Given the description of an element on the screen output the (x, y) to click on. 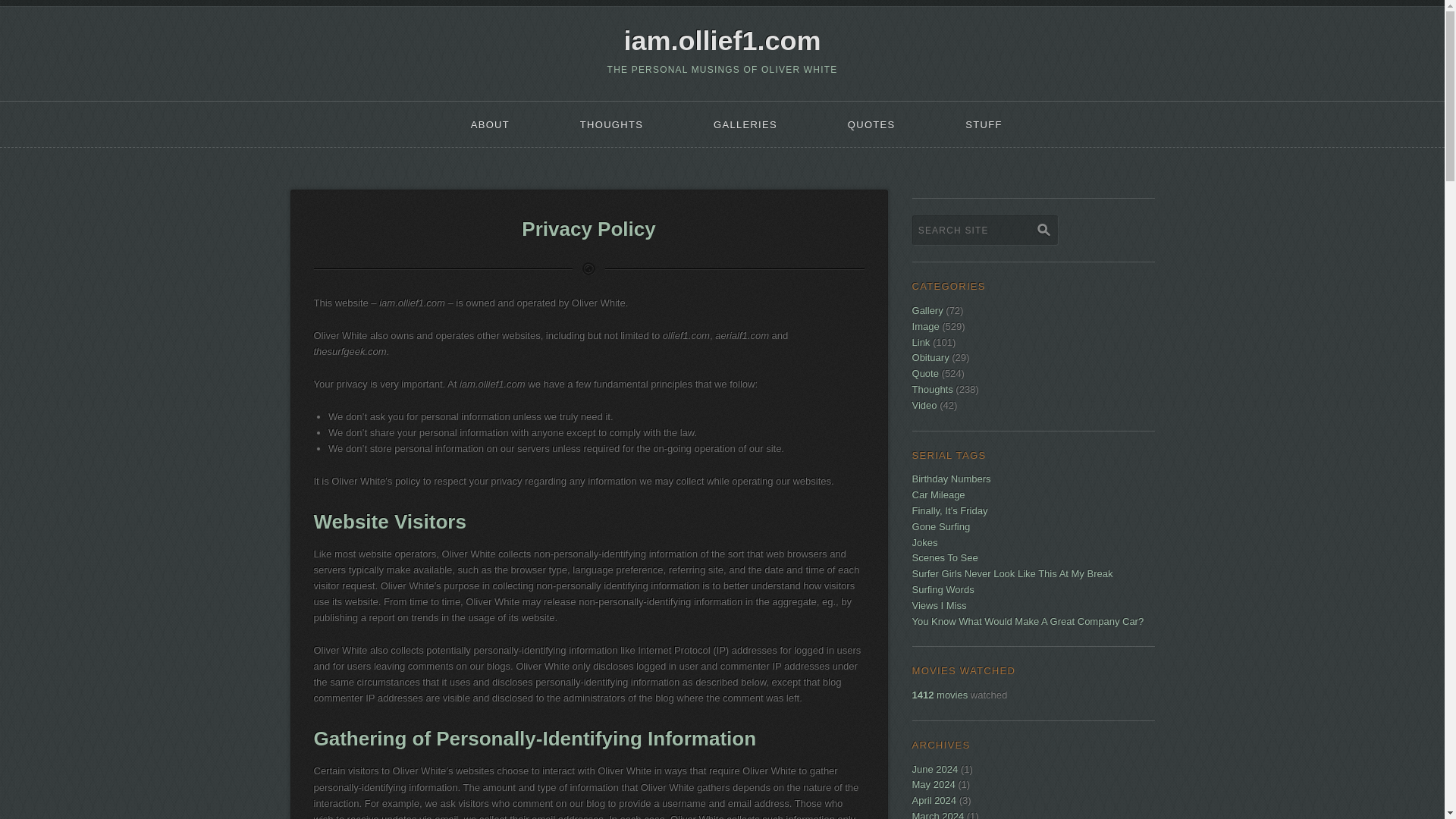
STUFF (983, 124)
Quote (925, 373)
Link (921, 342)
iam.ollief1.com (722, 40)
Video (924, 405)
Jokes (924, 542)
THOUGHTS (611, 124)
QUOTES (871, 124)
GALLERIES (746, 124)
Car Mileage (938, 494)
Thoughts (932, 389)
Type and press Enter to search (1033, 238)
Gallery (927, 310)
Birthday Numbers (951, 478)
Search site (985, 229)
